Given the description of an element on the screen output the (x, y) to click on. 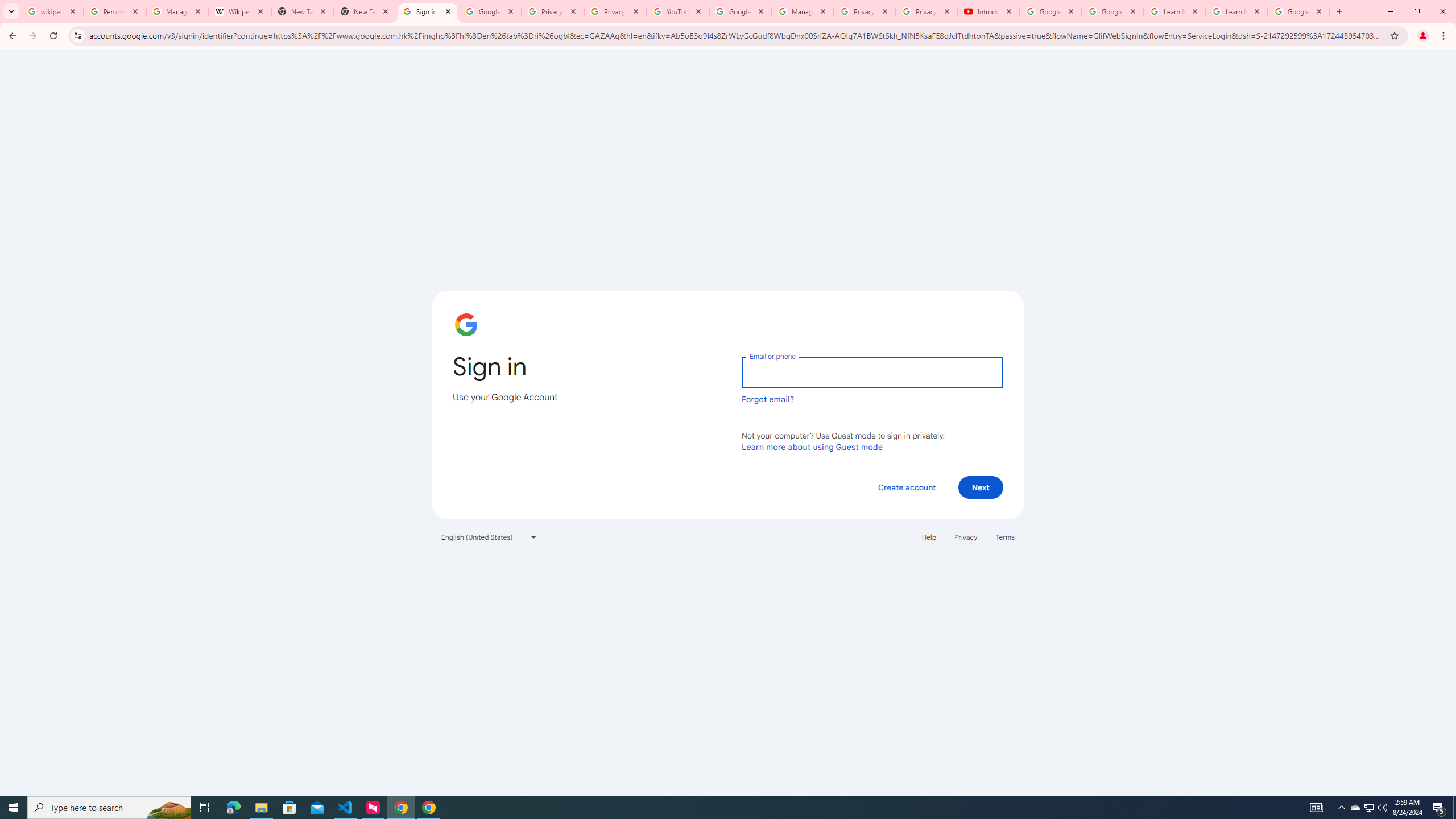
Privacy (965, 536)
Google Account Help (740, 11)
Google Account Help (1111, 11)
Manage your Location History - Google Search Help (177, 11)
Terms (1005, 536)
Address and search bar (735, 35)
Next (980, 486)
